Given the description of an element on the screen output the (x, y) to click on. 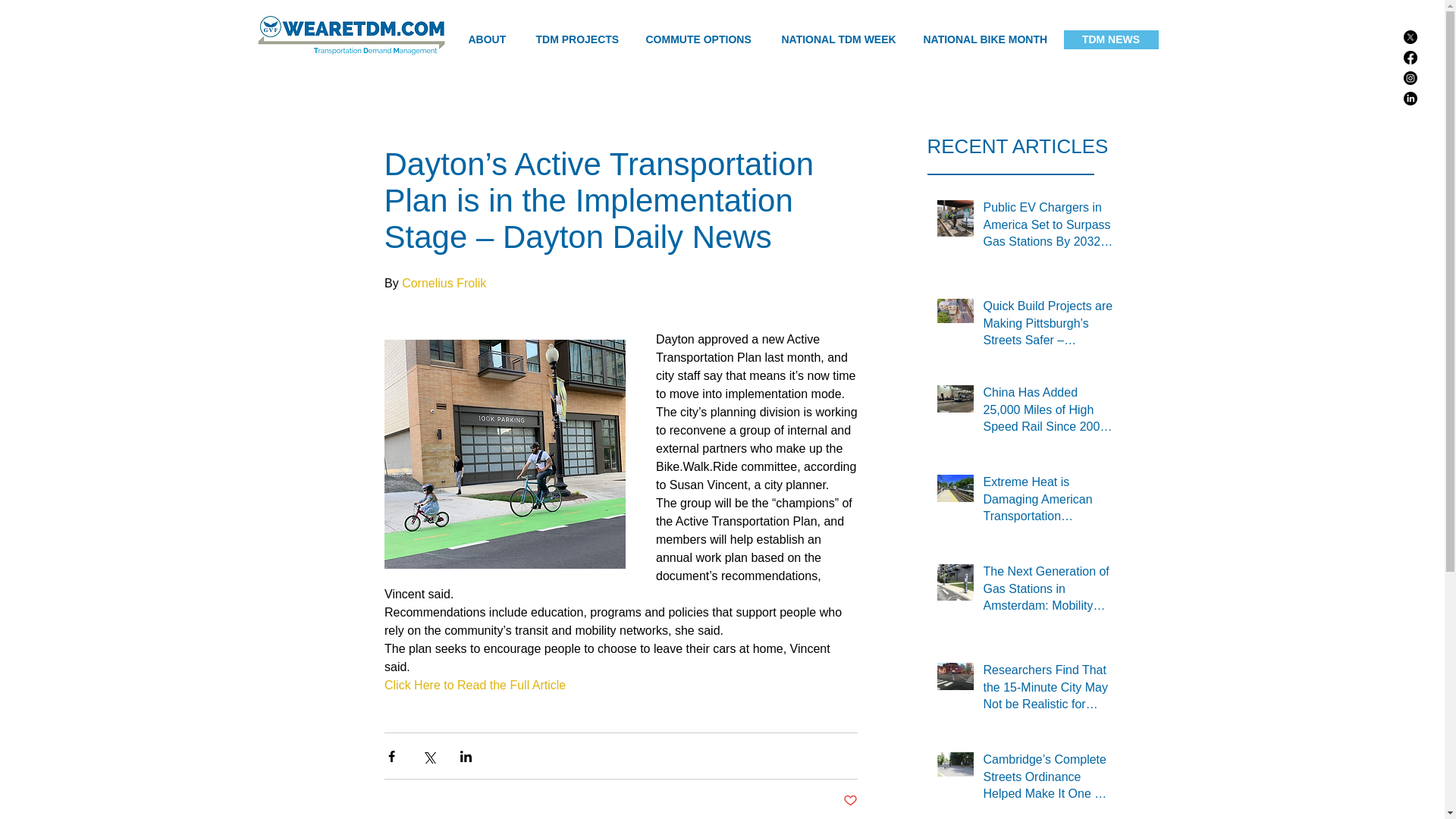
COMMUTE OPTIONS (701, 39)
TDM PROJECTS (579, 39)
ABOUT (490, 39)
TDM NEWS (1109, 39)
NATIONAL BIKE MONTH (986, 39)
Cornelius Frolik (443, 282)
Post not marked as liked (850, 801)
Click Here to Read the Full Article (474, 684)
NATIONAL TDM WEEK (841, 39)
